Given the description of an element on the screen output the (x, y) to click on. 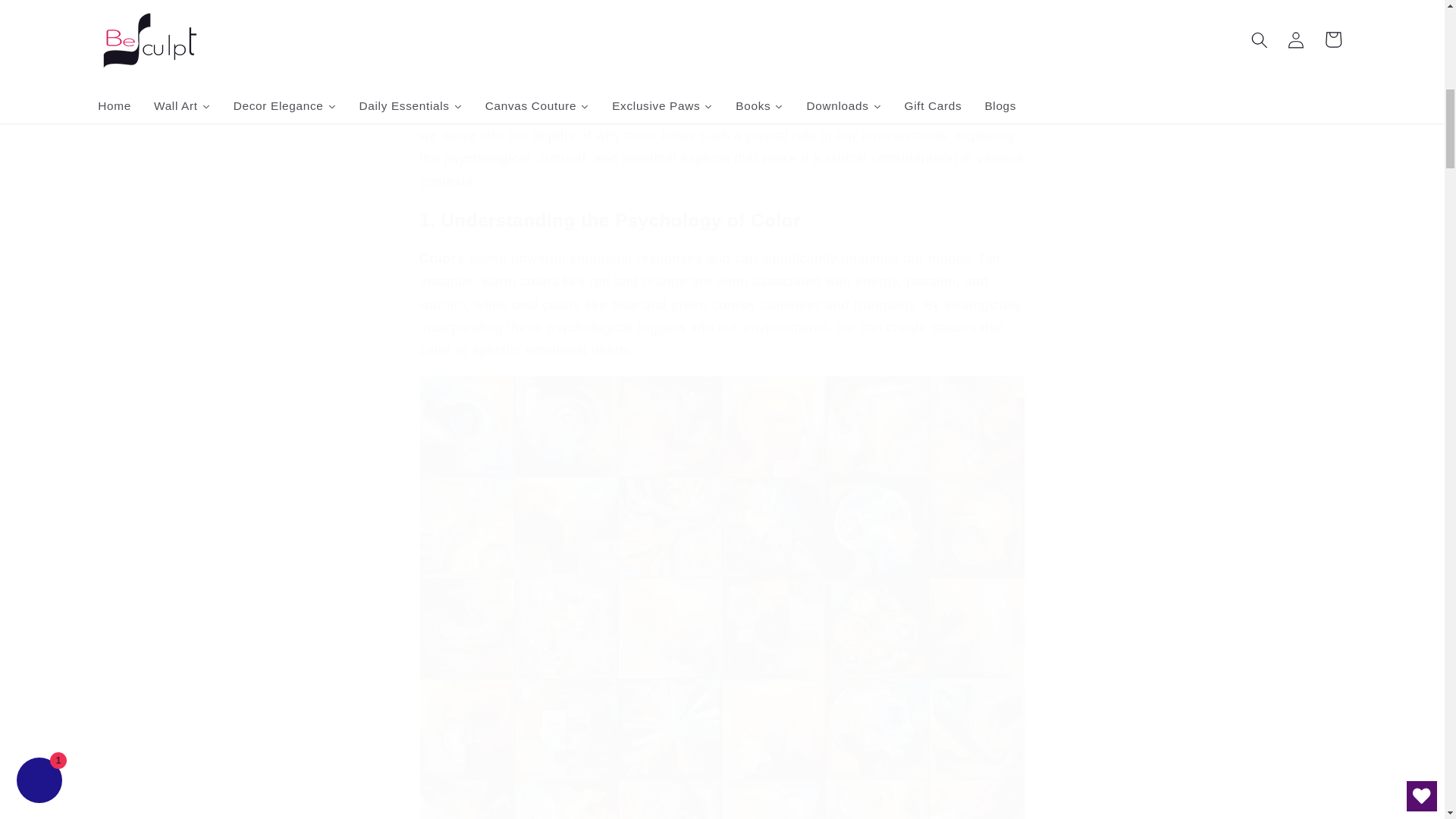
Share (722, 23)
